Given the description of an element on the screen output the (x, y) to click on. 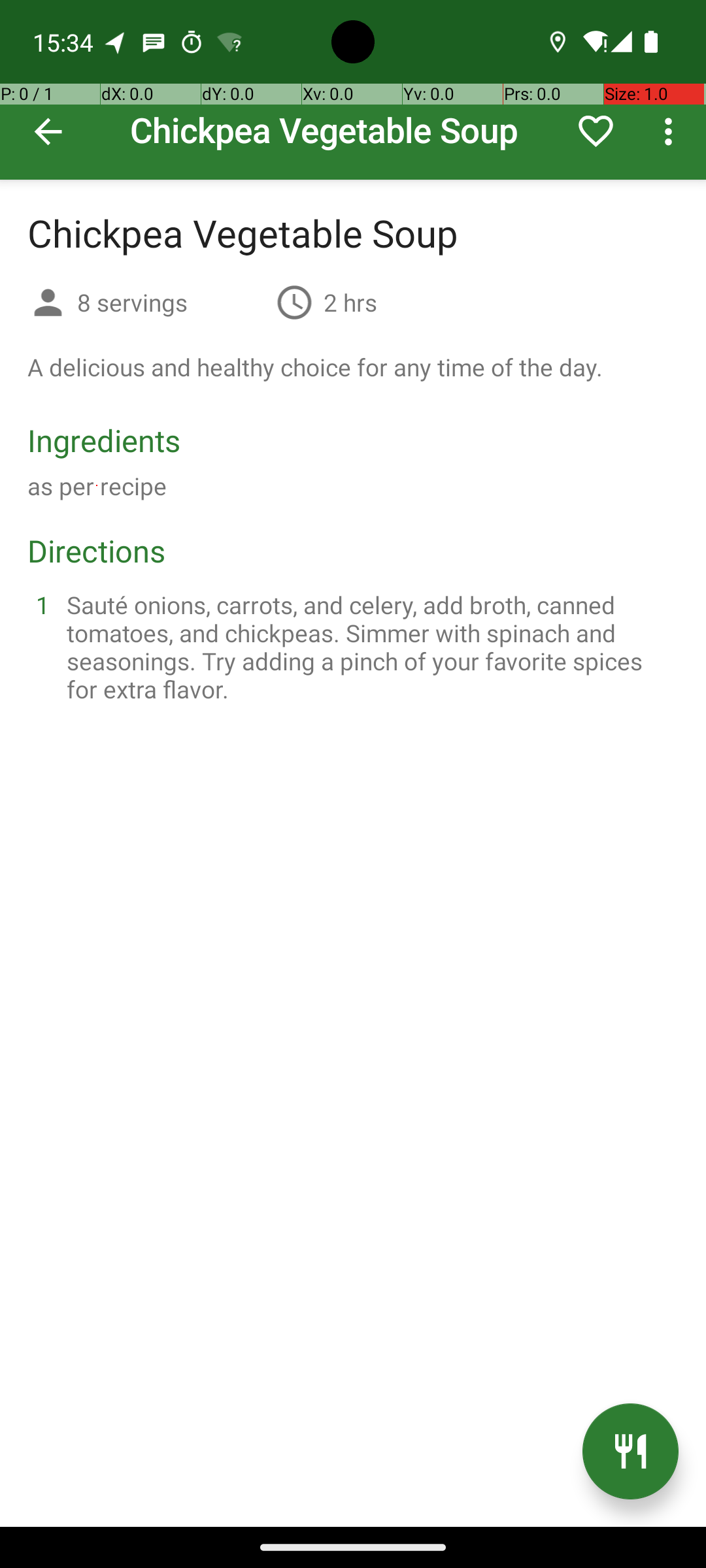
Sauté onions, carrots, and celery, add broth, canned tomatoes, and chickpeas. Simmer with spinach and seasonings. Try adding a pinch of your favorite spices for extra flavor. Element type: android.widget.TextView (368, 646)
